Given the description of an element on the screen output the (x, y) to click on. 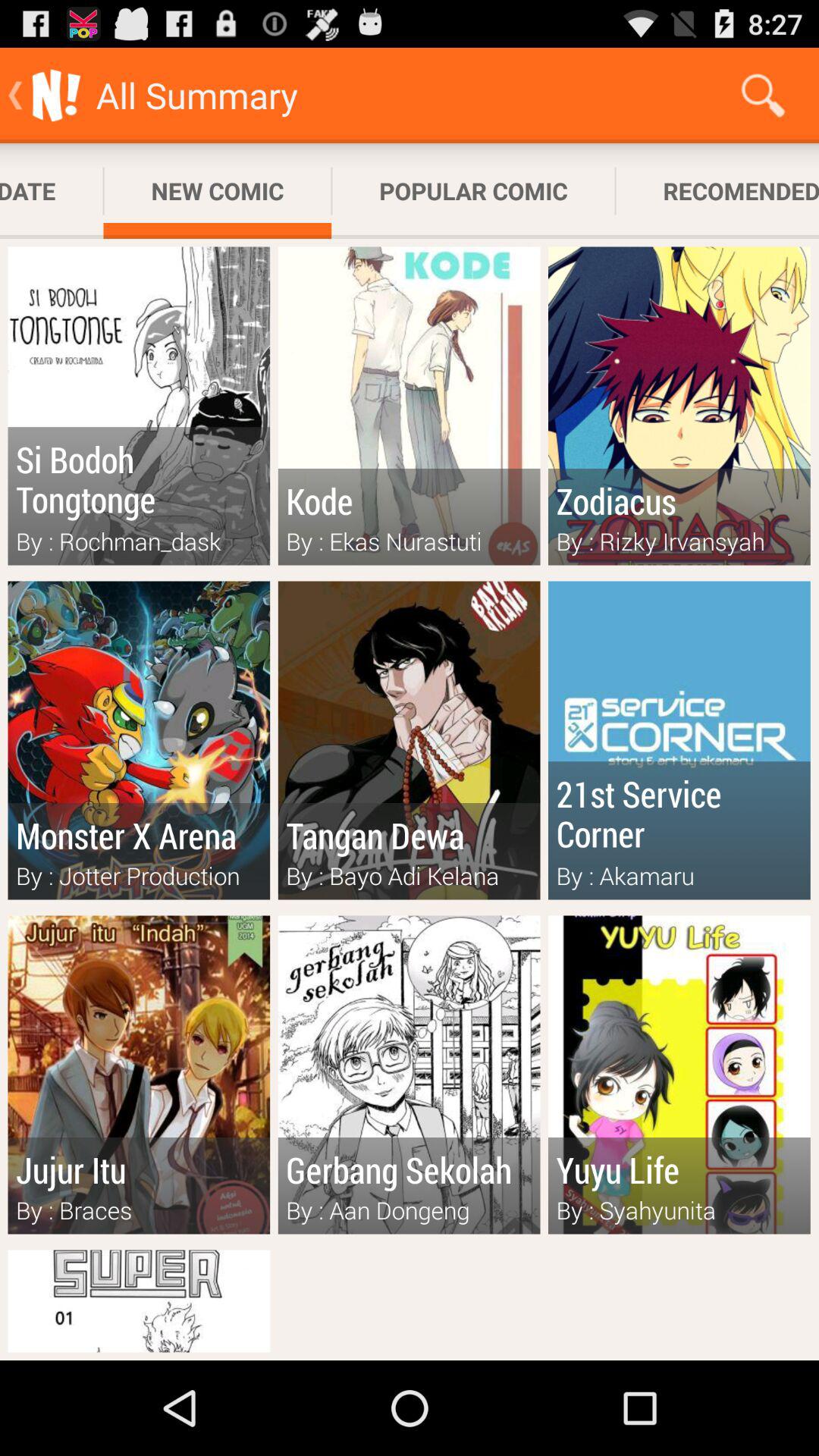
press app next to new comic (473, 190)
